Given the description of an element on the screen output the (x, y) to click on. 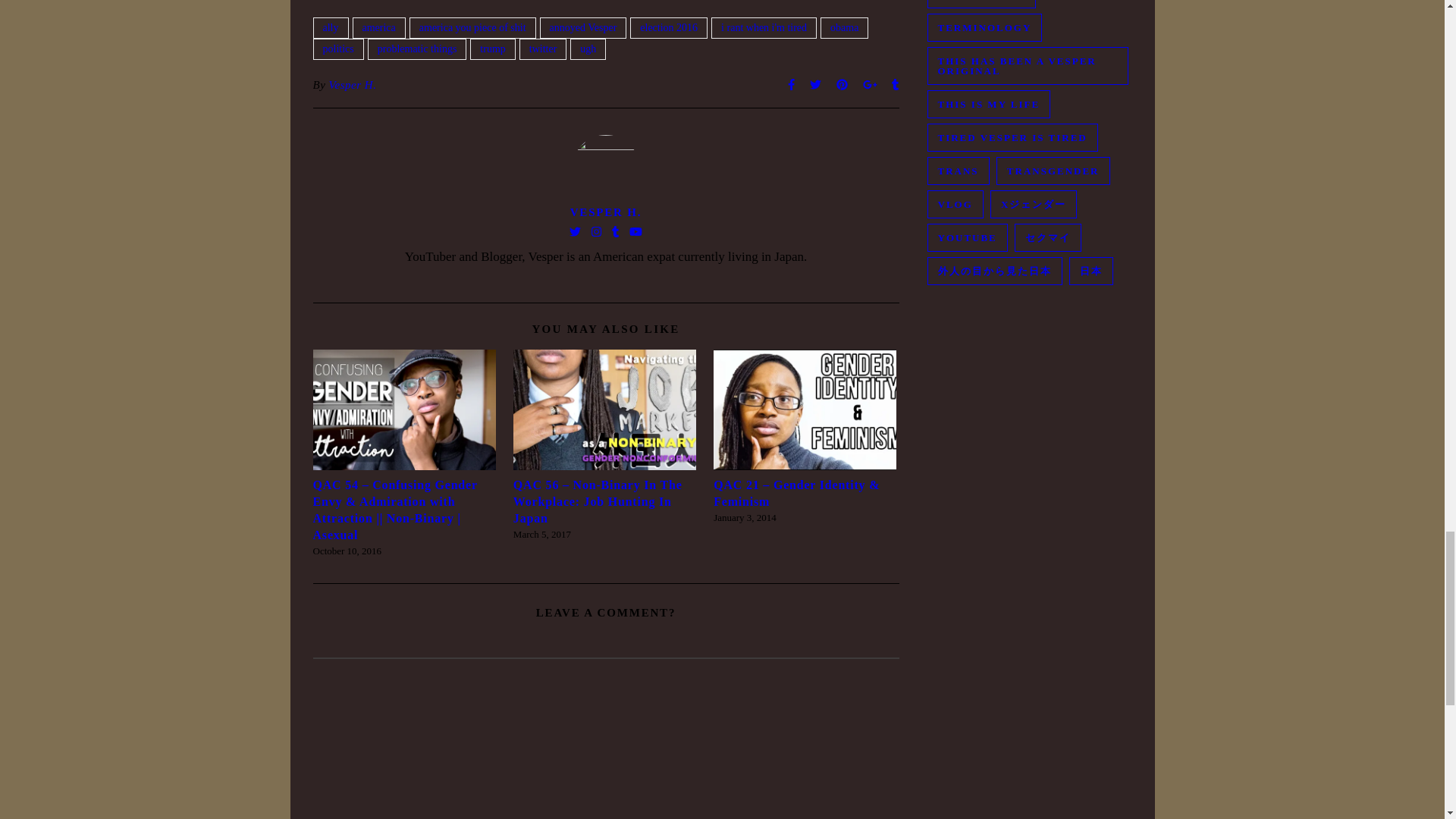
Posts by Vesper H. (606, 212)
Posts by Vesper H. (353, 84)
